Given the description of an element on the screen output the (x, y) to click on. 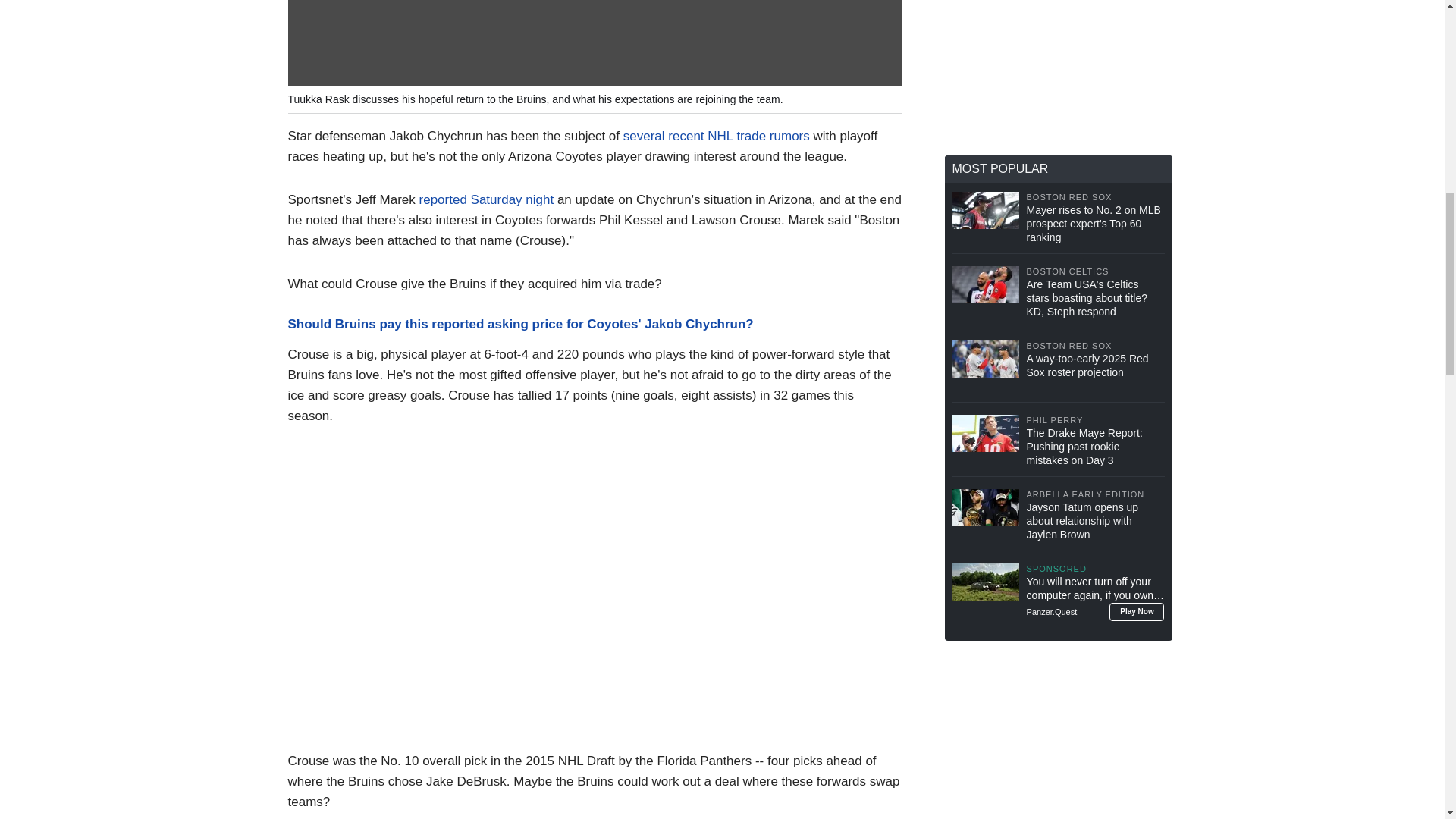
several recent NHL trade rumors (716, 135)
reported Saturday night (486, 199)
